Given the description of an element on the screen output the (x, y) to click on. 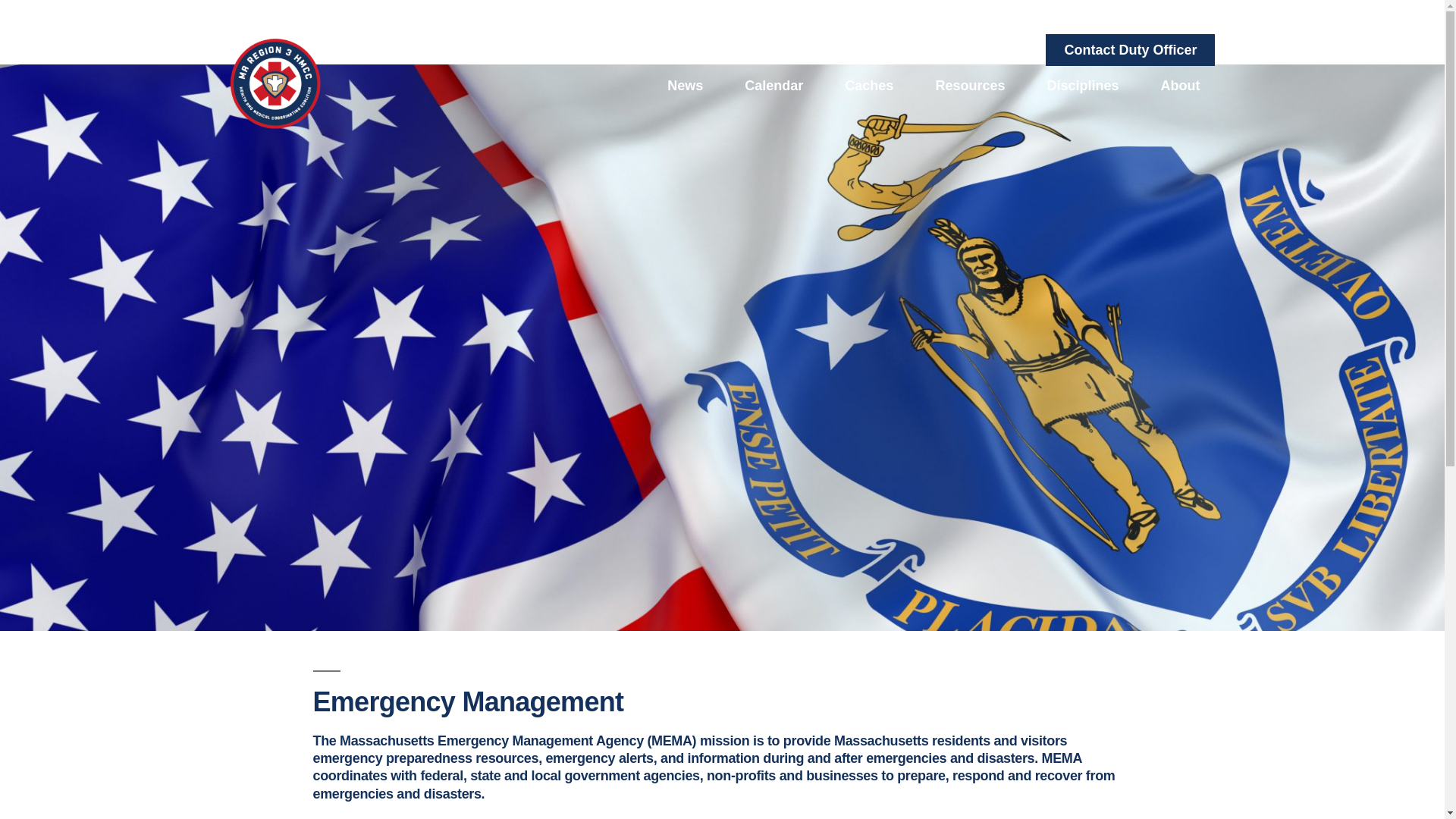
Resources (970, 85)
News (684, 85)
Caches (868, 85)
Calendar (773, 85)
Contact Duty Officer (1129, 49)
About (1179, 85)
Disciplines (1082, 85)
